Given the description of an element on the screen output the (x, y) to click on. 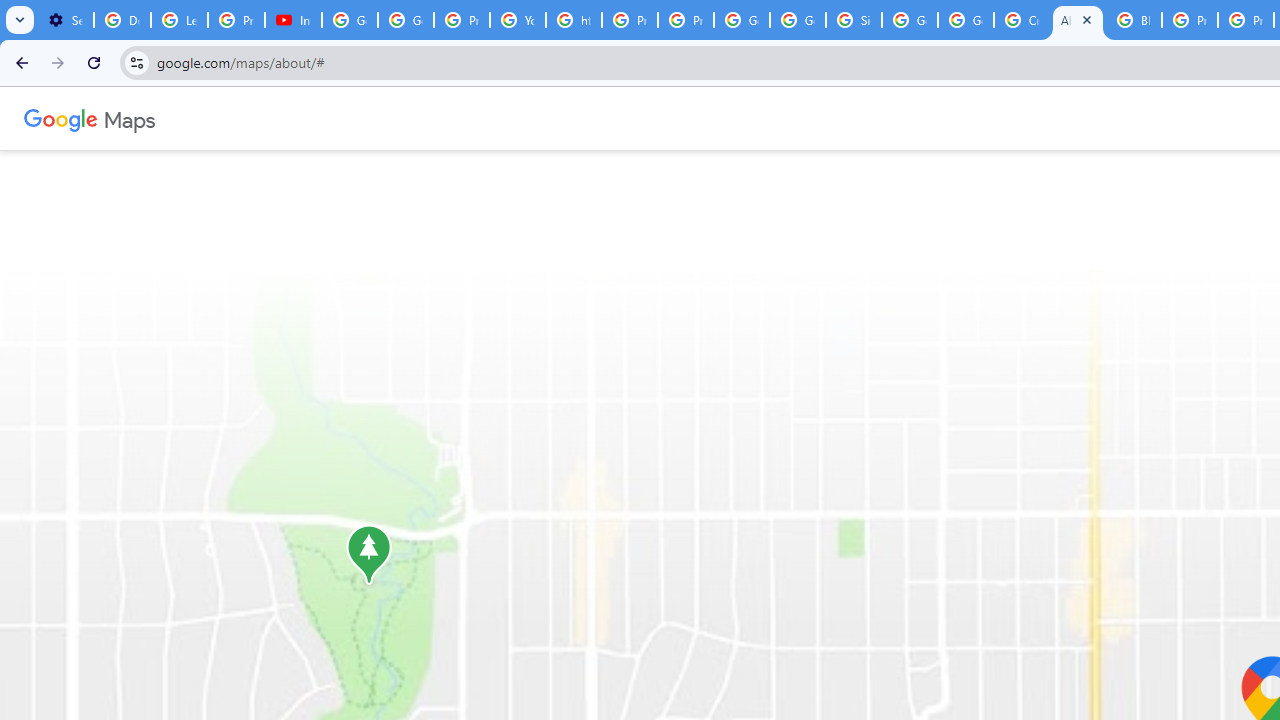
Introduction | Google Privacy Policy - YouTube (293, 20)
